Given the description of an element on the screen output the (x, y) to click on. 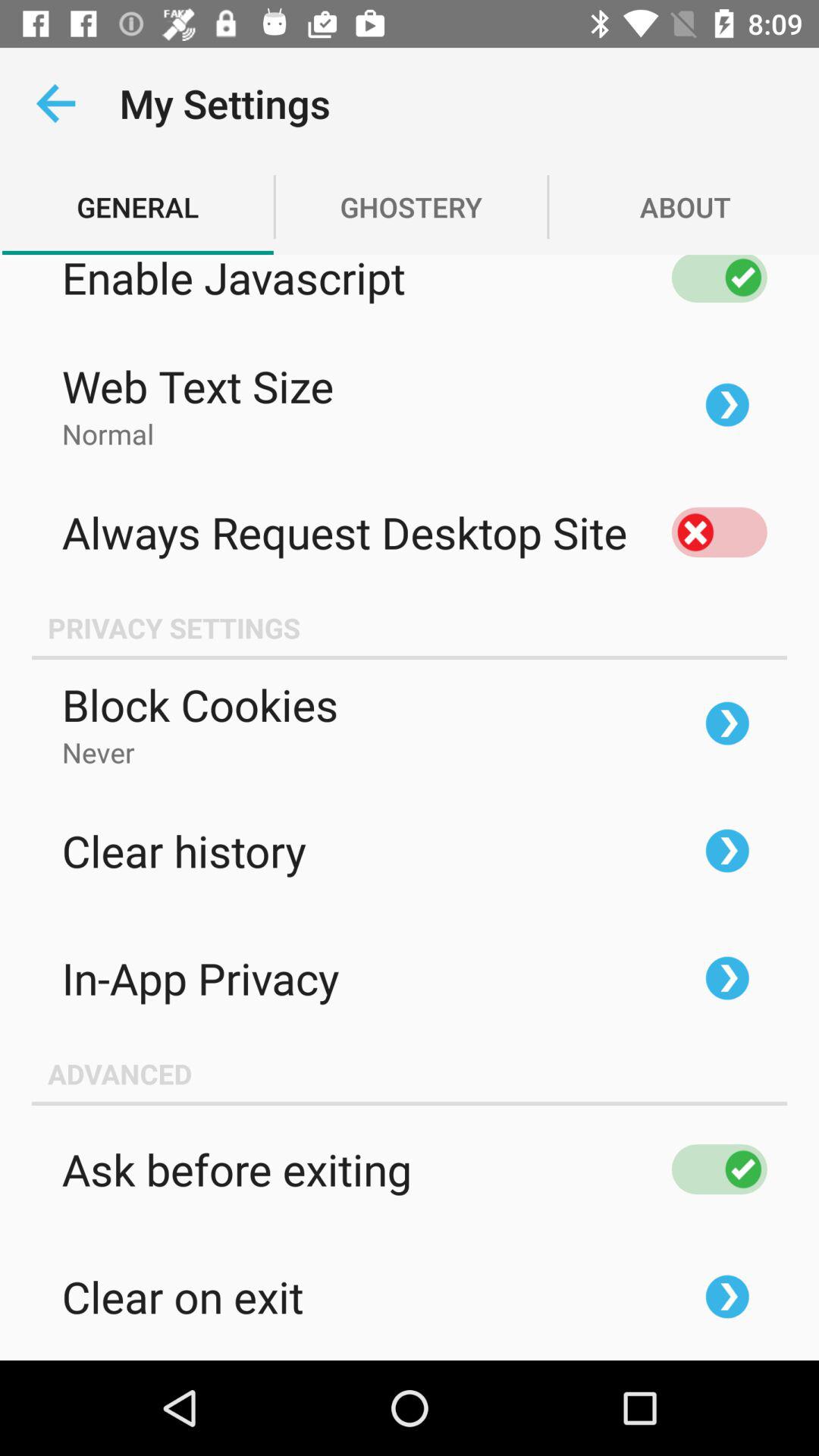
toggle request desktop site option (719, 532)
